Given the description of an element on the screen output the (x, y) to click on. 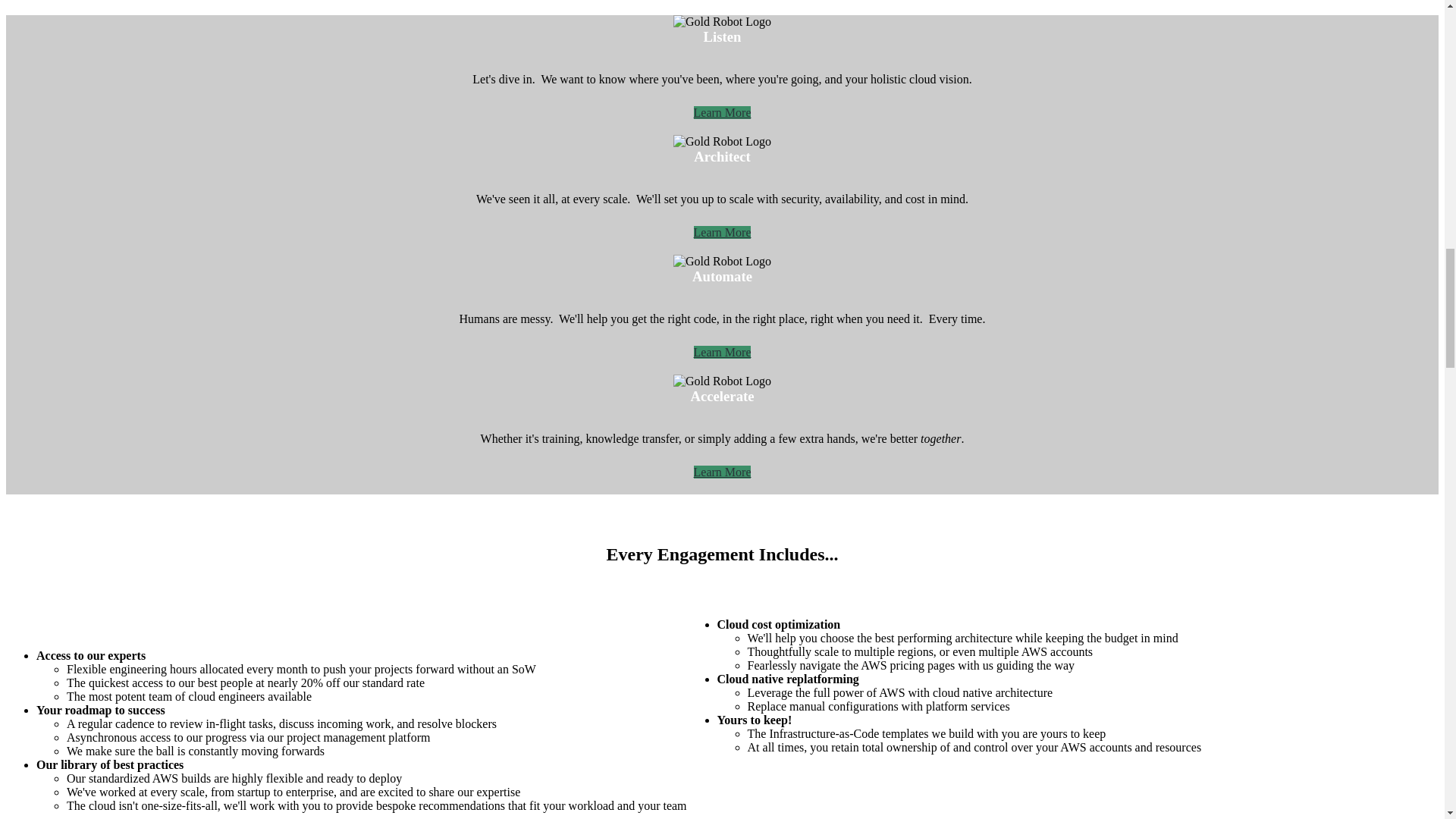
Learn More (722, 112)
Learn More (722, 232)
Learn More (722, 351)
Learn More (722, 472)
